Given the description of an element on the screen output the (x, y) to click on. 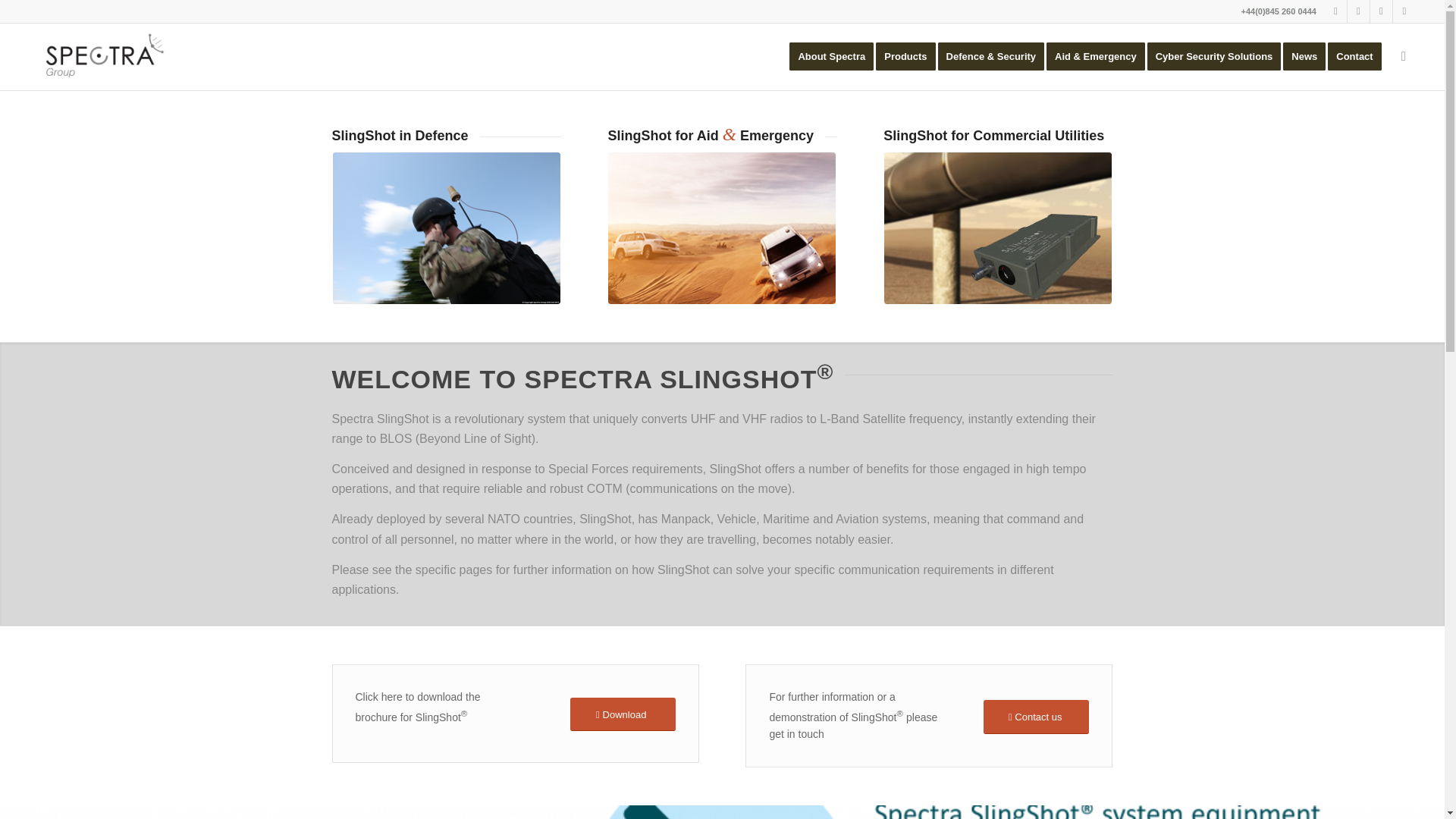
logo-banner (101, 56)
Mail (1404, 11)
Twitter (1335, 11)
Contact (1358, 56)
Youtube (1380, 11)
Cyber Security Solutions (1219, 56)
News (1308, 56)
Desert Safari (721, 227)
slingshot-products-4 (446, 227)
About Spectra (830, 56)
Contact us (1036, 716)
Download (622, 714)
LinkedIn (1359, 11)
Products (910, 56)
VHF-C-V-over-pipeline (997, 227)
